Given the description of an element on the screen output the (x, y) to click on. 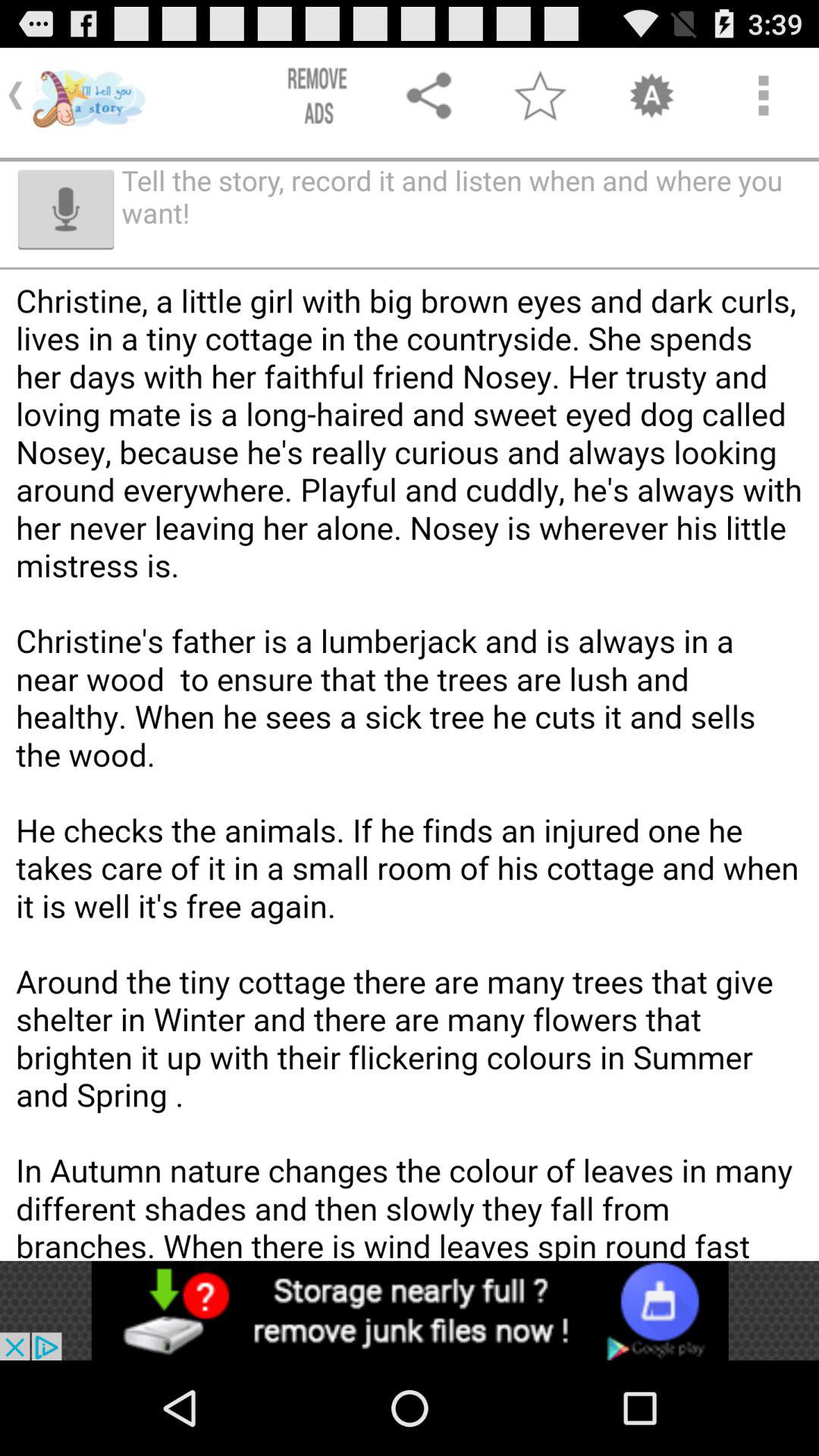
open page (409, 1310)
